Given the description of an element on the screen output the (x, y) to click on. 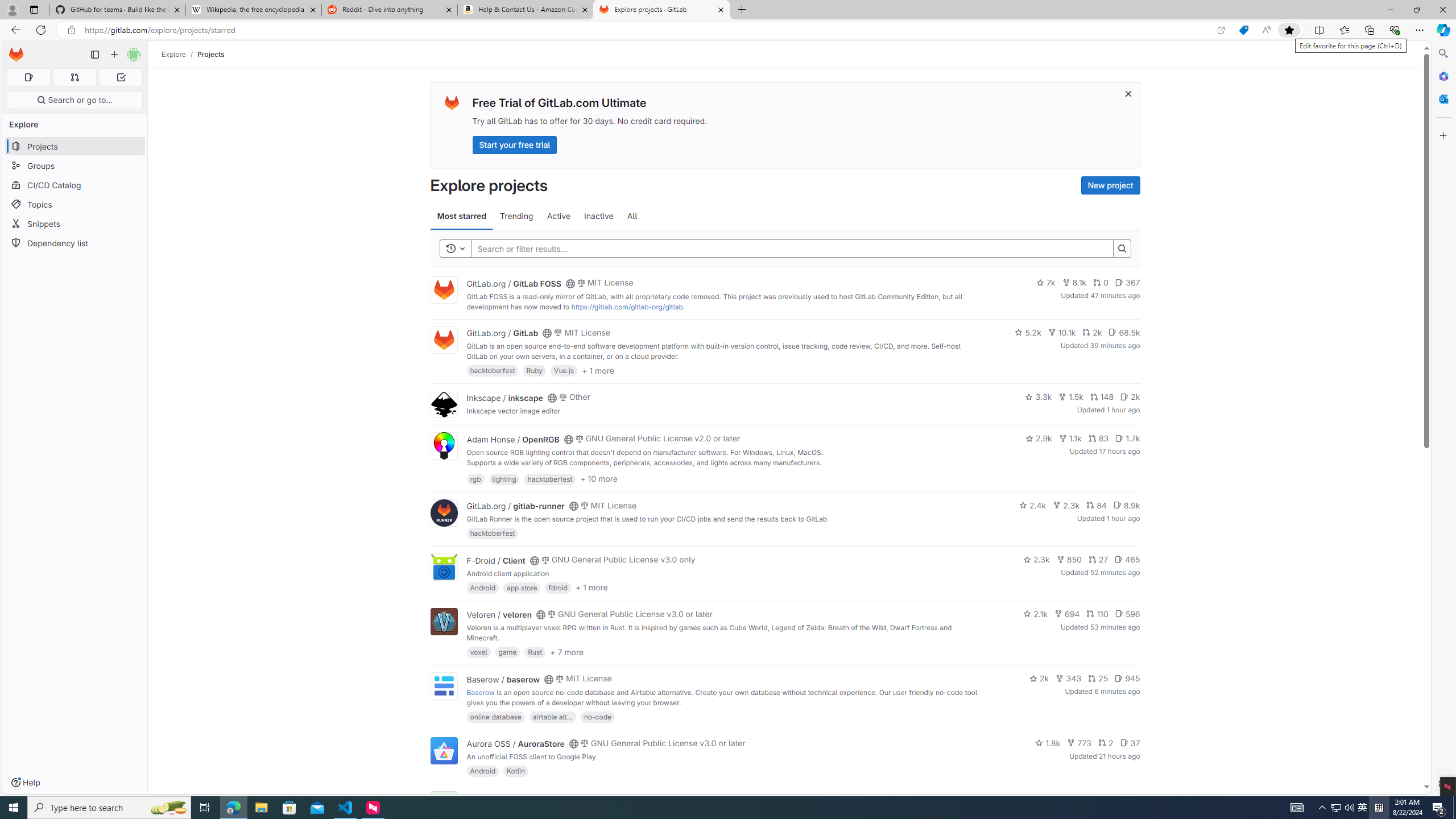
fdroid (558, 587)
143 (1085, 797)
68.5k (1124, 331)
Active (559, 216)
83 (1098, 438)
GitLab.org / GitLab FOSS (513, 283)
CI/CD Catalog (74, 185)
Dependency list (74, 242)
